Given the description of an element on the screen output the (x, y) to click on. 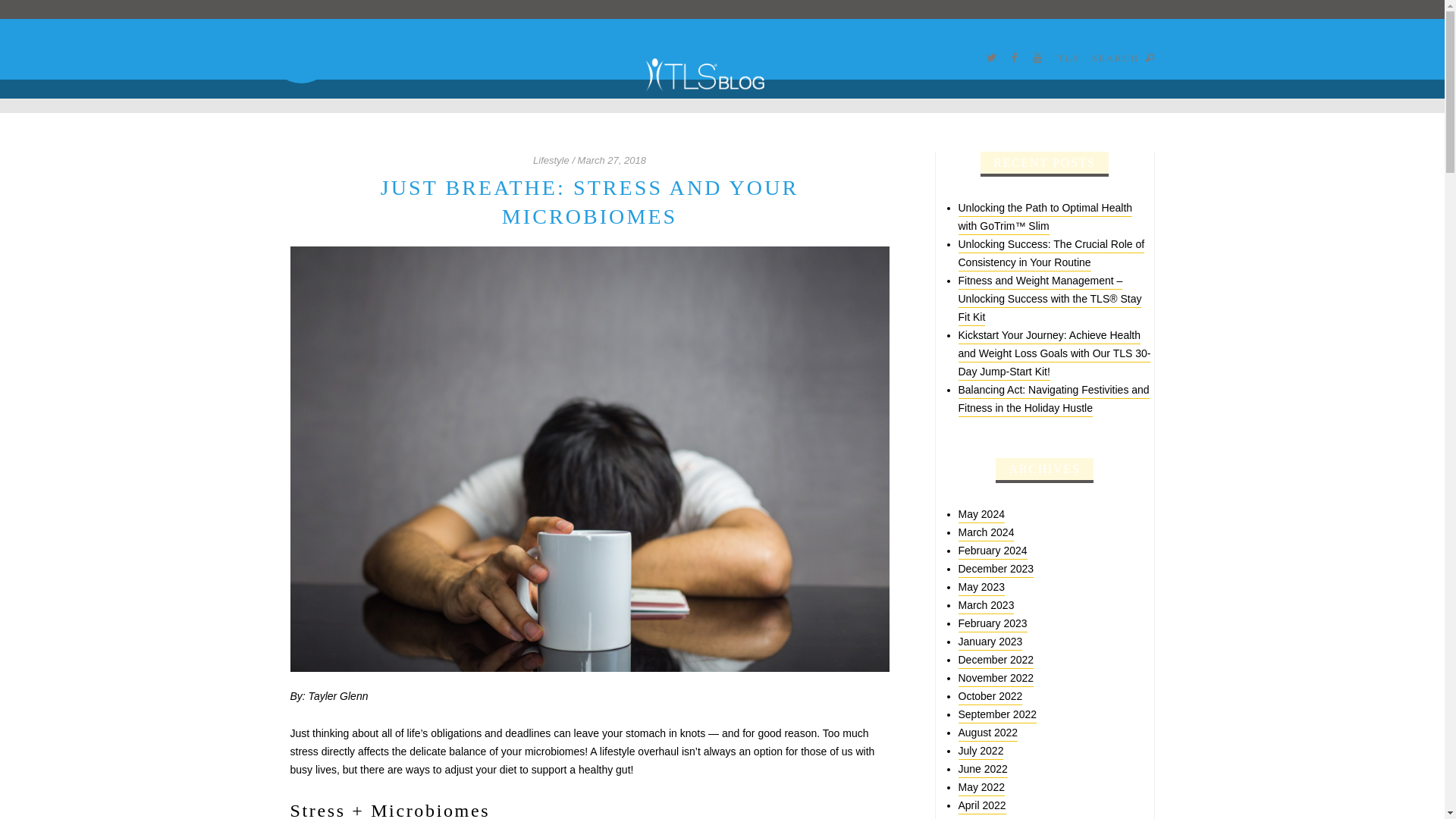
View all posts in Lifestyle (550, 160)
TLS (1069, 57)
Lifestyle (550, 160)
March 27, 2018 (612, 160)
JUST BREATHE: STRESS AND YOUR MICROBIOMES (588, 202)
Search (432, 28)
